Given the description of an element on the screen output the (x, y) to click on. 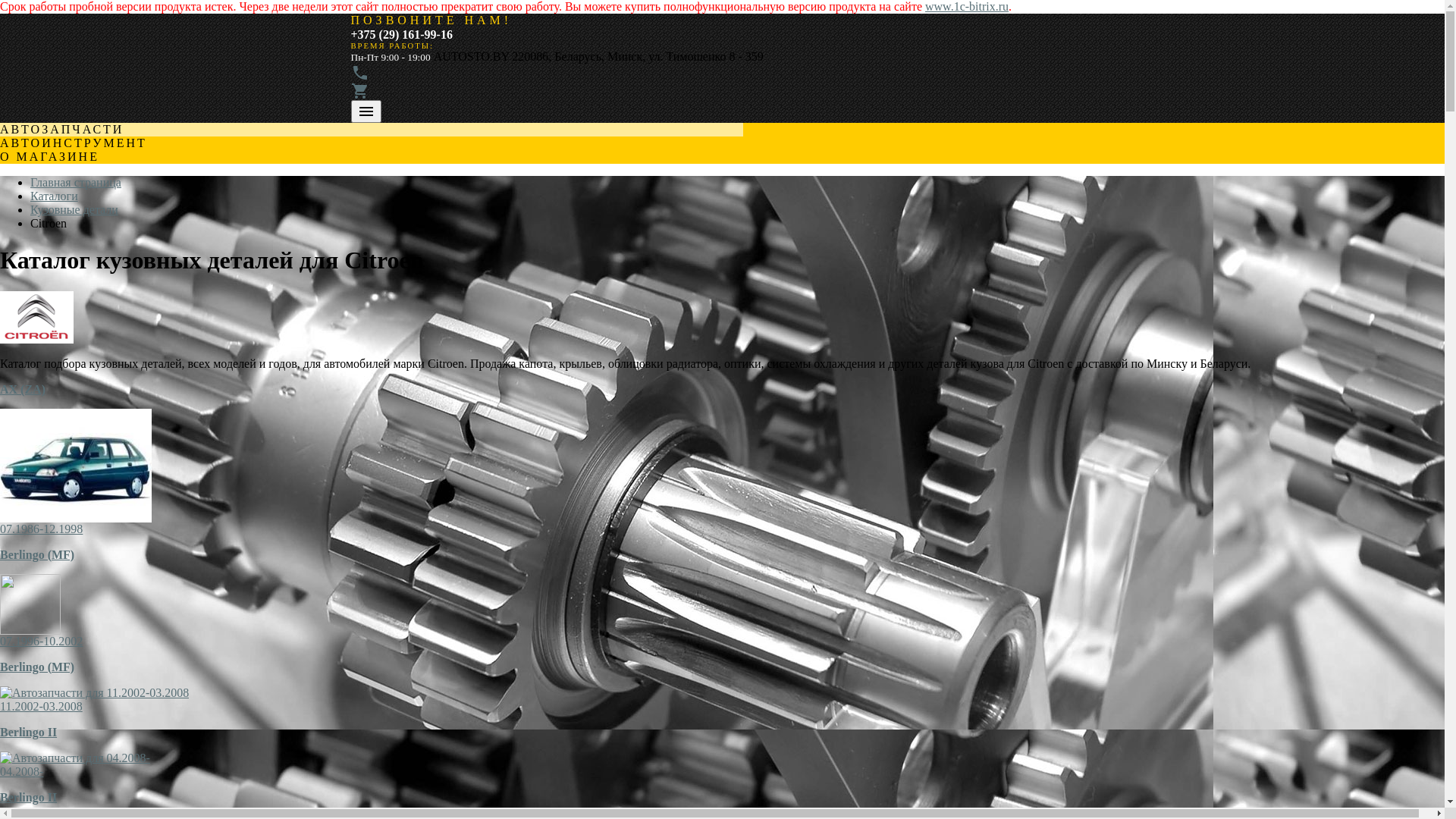
phone Element type: text (359, 77)
Berlingo II Element type: text (28, 796)
04.2008- Element type: text (21, 771)
11.2002-03.2008 Element type: text (41, 705)
AX (ZA) Element type: text (22, 388)
shopping_cart Element type: text (359, 95)
Berlingo II Element type: text (28, 731)
07.1996-10.2002 Element type: text (41, 640)
www.1c-bitrix.ru Element type: text (966, 6)
Berlingo (MF) Element type: text (37, 554)
menu Element type: text (365, 111)
07.1986-12.1998 Element type: text (41, 528)
Berlingo (MF) Element type: text (37, 666)
